Given the description of an element on the screen output the (x, y) to click on. 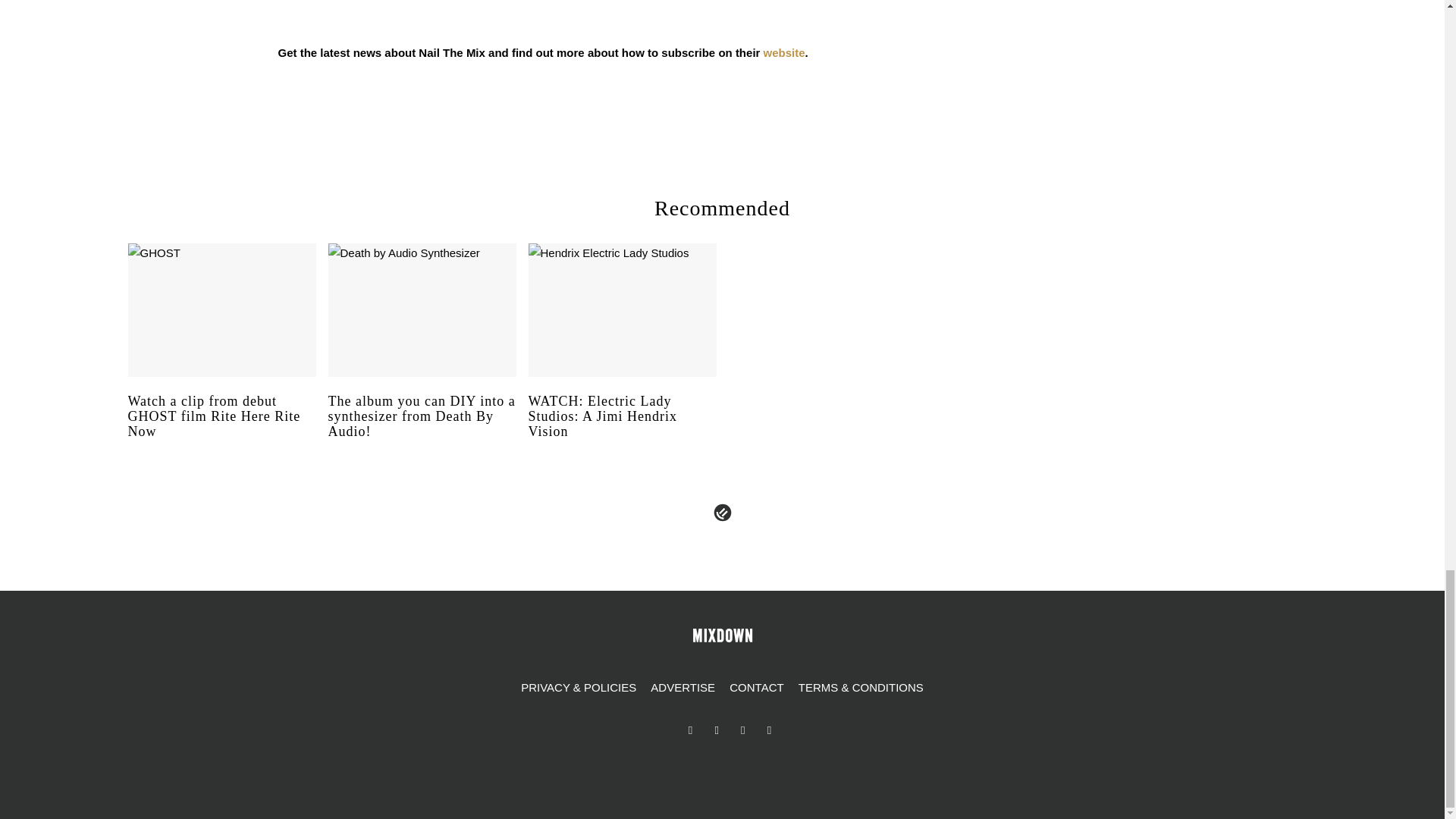
WATCH: Electric Lady Studios: A Jimi Hendrix Vision (621, 430)
Watch a clip from debut GHOST film Rite Here Rite Now (221, 430)
CONTACT (756, 687)
ADVERTISE (682, 687)
website (783, 51)
